Given the description of an element on the screen output the (x, y) to click on. 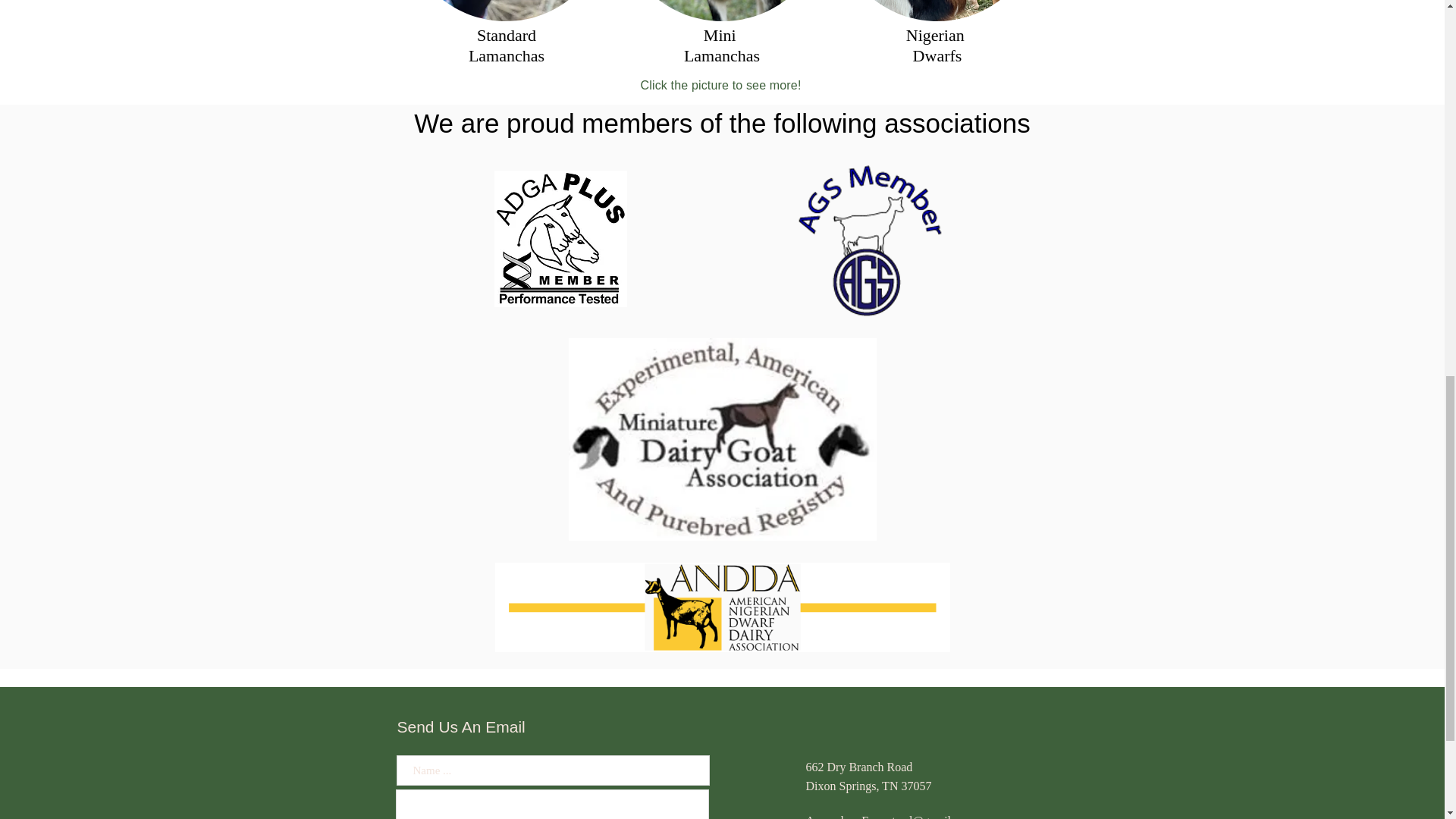
Mini  (721, 35)
Anamchara Farmstead Standard Lamanchas (504, 10)
Lamanchas (722, 55)
Dwarfs (937, 55)
Anamchara Farmstead Mini Lamanchas (721, 10)
Anamchara Farmstead Nigerian Dwarfs (937, 10)
Nigerian  (936, 35)
